Given the description of an element on the screen output the (x, y) to click on. 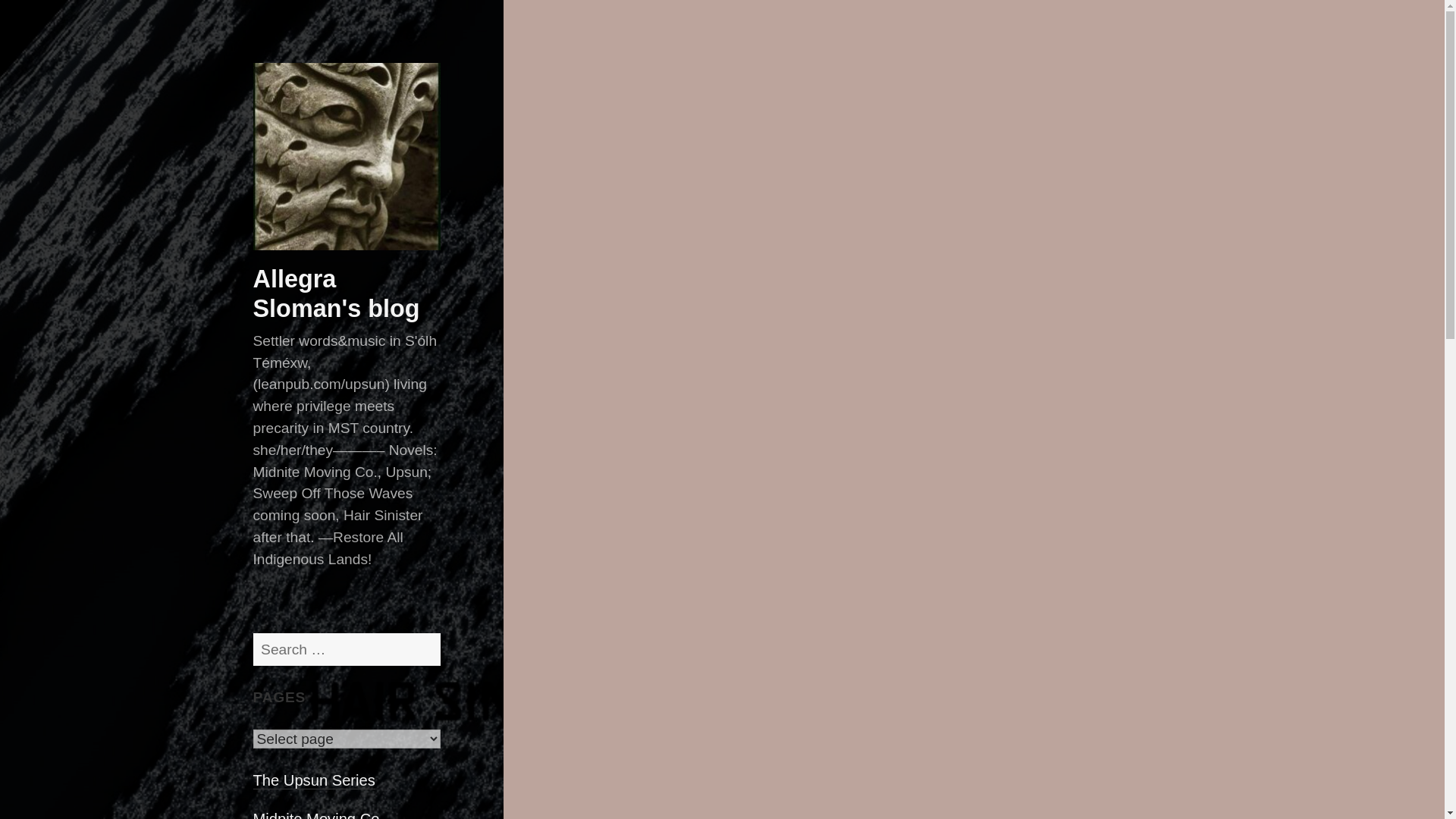
Allegra Sloman's blog (336, 293)
The Upsun Series (314, 781)
Midnite Moving Co (316, 815)
